Given the description of an element on the screen output the (x, y) to click on. 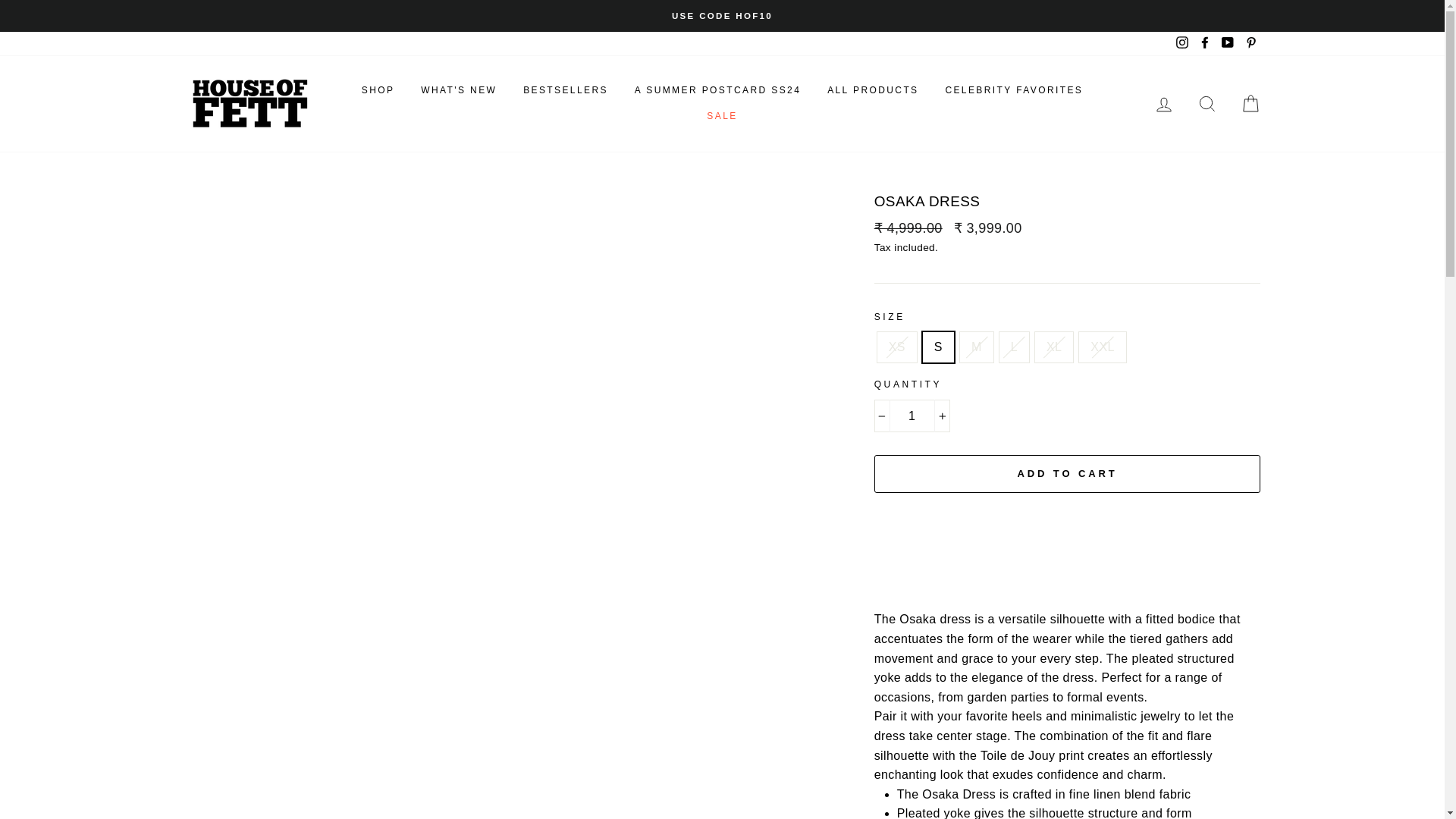
1 (912, 416)
